Given the description of an element on the screen output the (x, y) to click on. 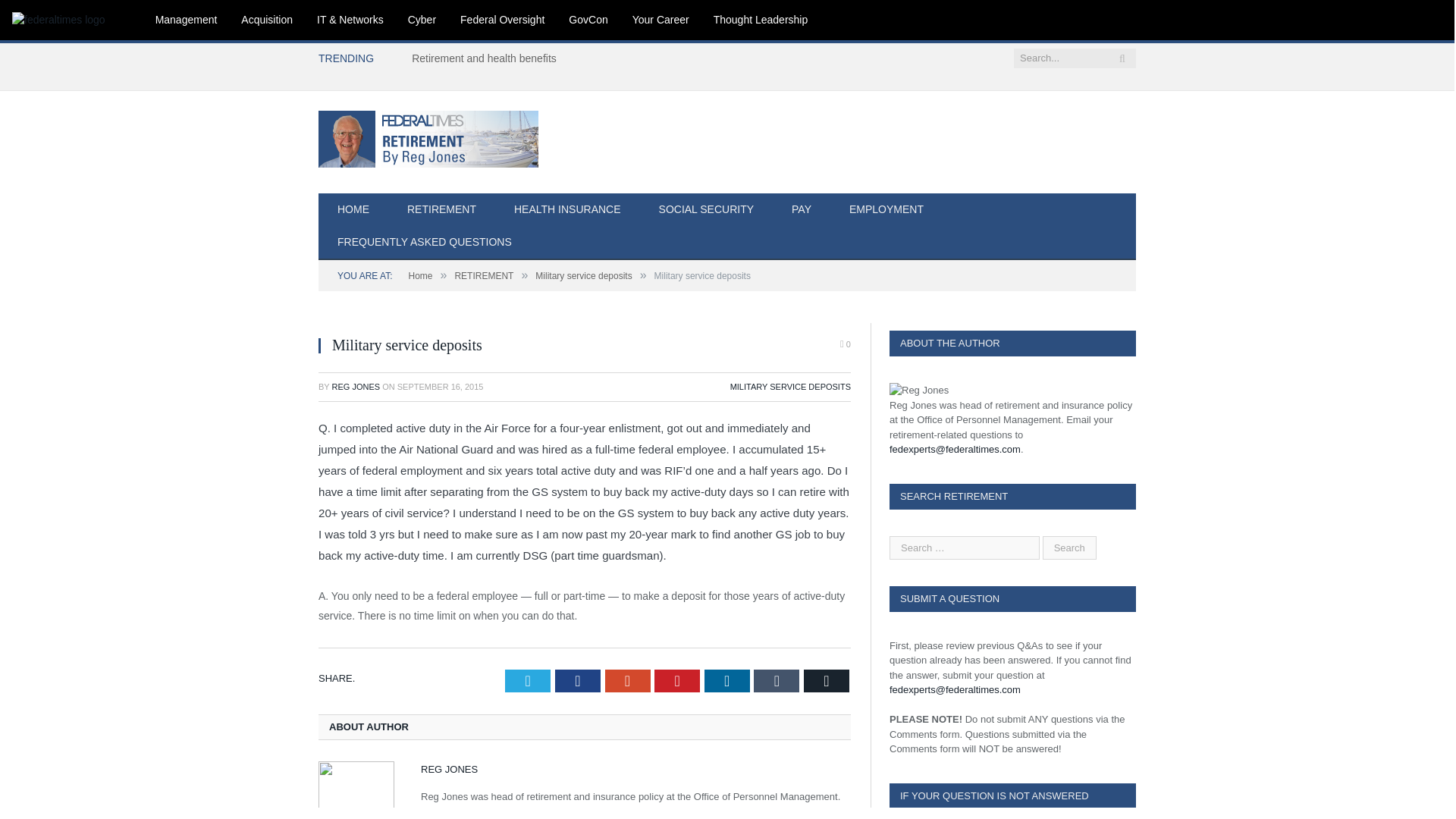
LinkedIn (726, 680)
HOME (353, 210)
Pinterest (676, 680)
EMPLOYMENT (885, 210)
Management (186, 19)
Ask The Experts: Retirement (428, 136)
Your Career (660, 19)
HEALTH INSURANCE (567, 210)
Acquisition (266, 19)
Posts by Reg Jones (355, 386)
Home (419, 276)
REG JONES (355, 386)
2015-09-16 (440, 386)
MILITARY SERVICE DEPOSITS (790, 386)
RETIREMENT (483, 276)
